Given the description of an element on the screen output the (x, y) to click on. 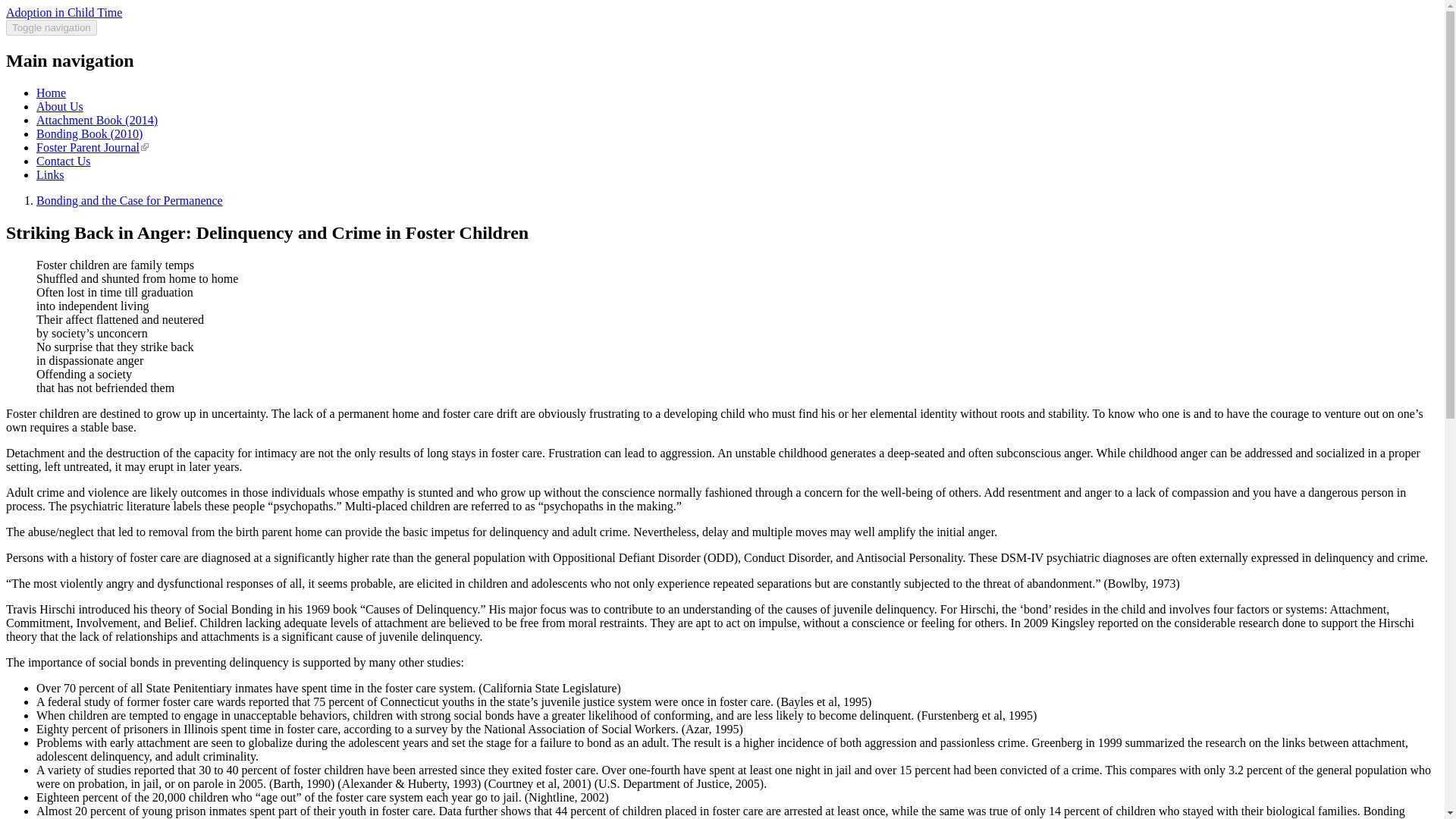
Links (50, 174)
Bonding and the Case for Permanence (129, 200)
Foster Parent Journal (92, 146)
Adoption in Child Time (63, 11)
About Us (59, 106)
Home (50, 92)
Contact Us (63, 160)
Toggle navigation (51, 27)
Home (63, 11)
